Given the description of an element on the screen output the (x, y) to click on. 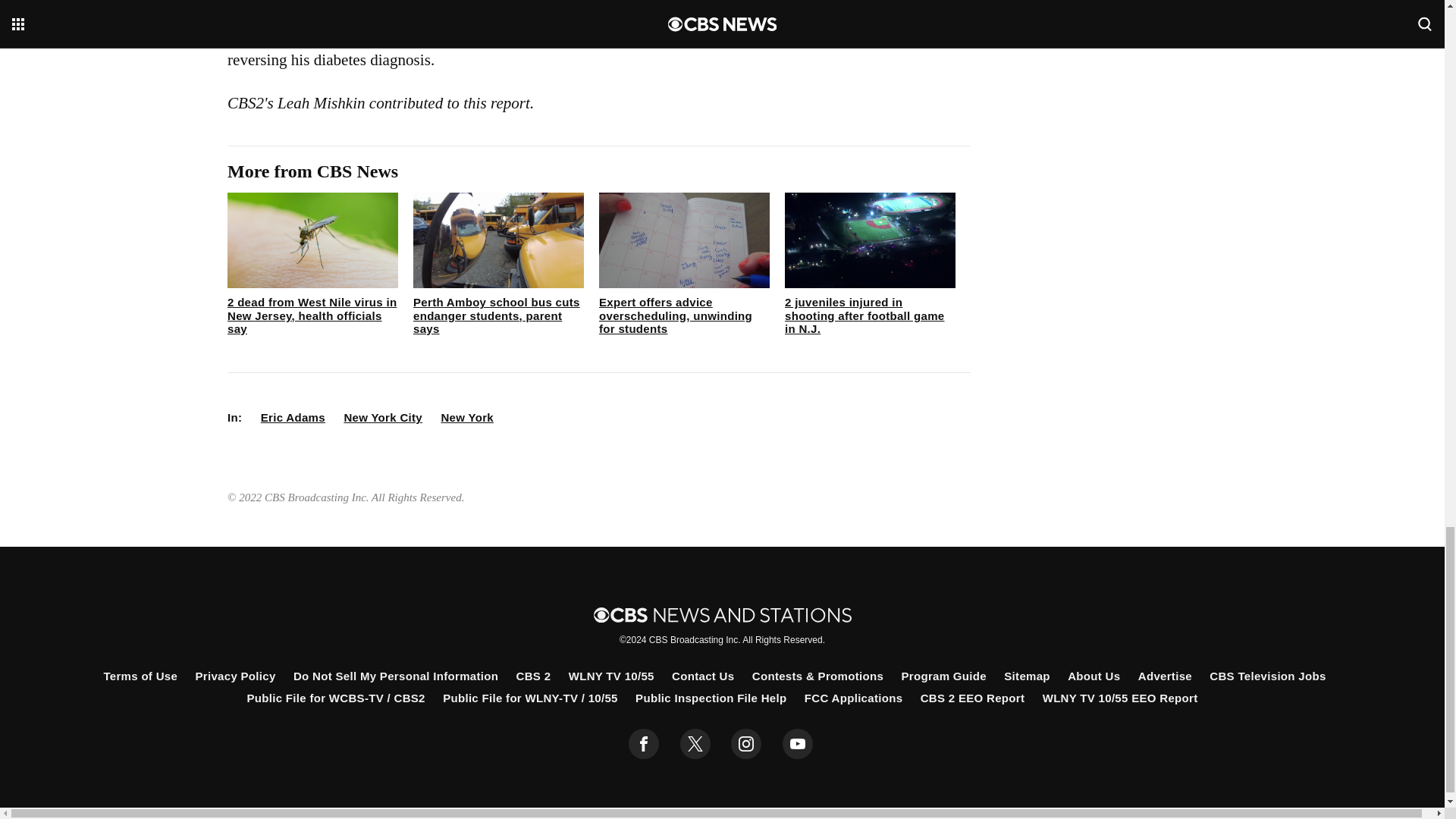
twitter (694, 743)
facebook (643, 743)
youtube (797, 743)
instagram (745, 743)
